Given the description of an element on the screen output the (x, y) to click on. 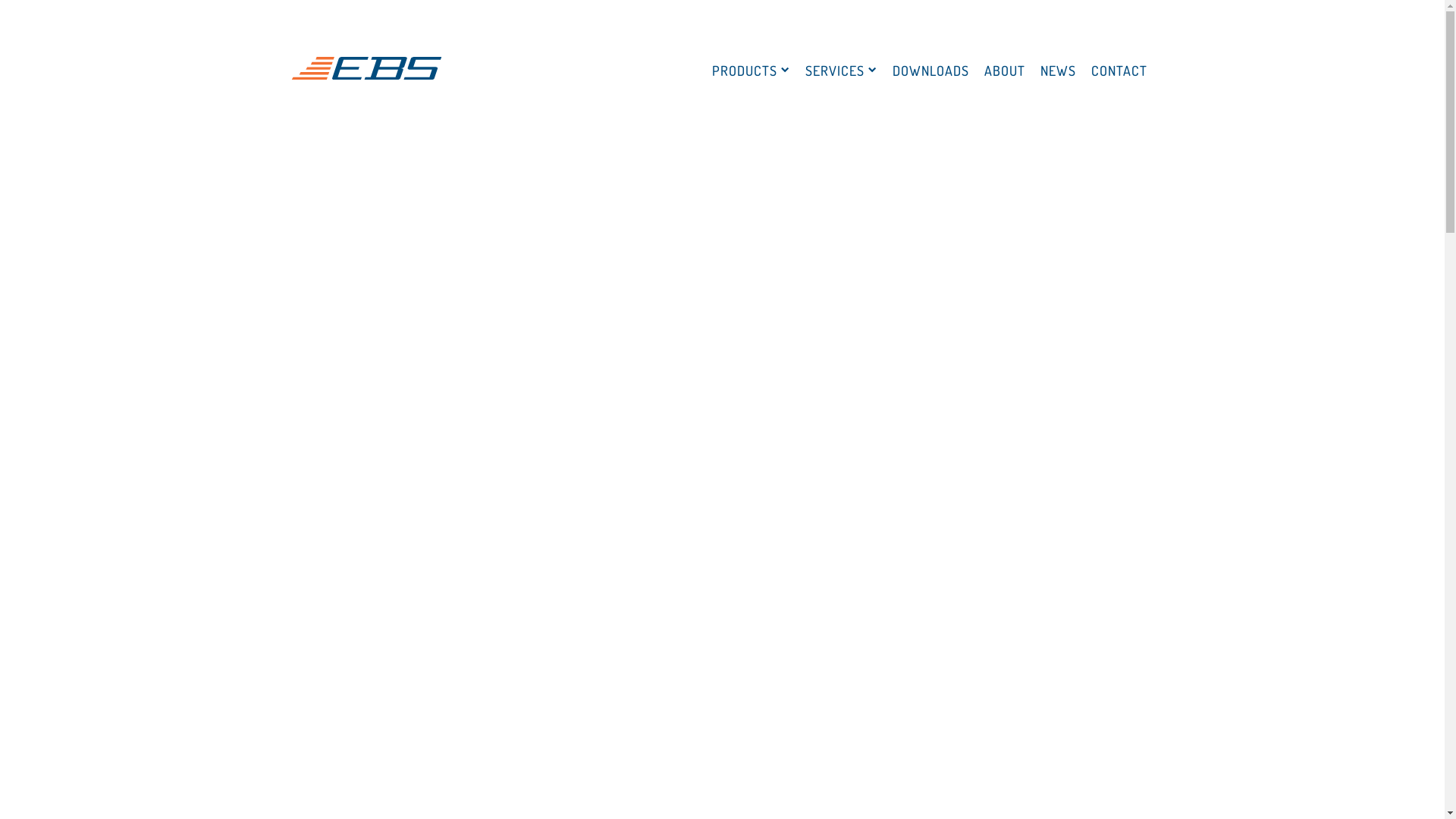
CONTACT Element type: text (1118, 71)
ABOUT Element type: text (1004, 71)
PRODUCTS Element type: text (750, 71)
NEWS Element type: text (1058, 71)
DOWNLOADS Element type: text (929, 71)
SERVICES Element type: text (841, 71)
